Given the description of an element on the screen output the (x, y) to click on. 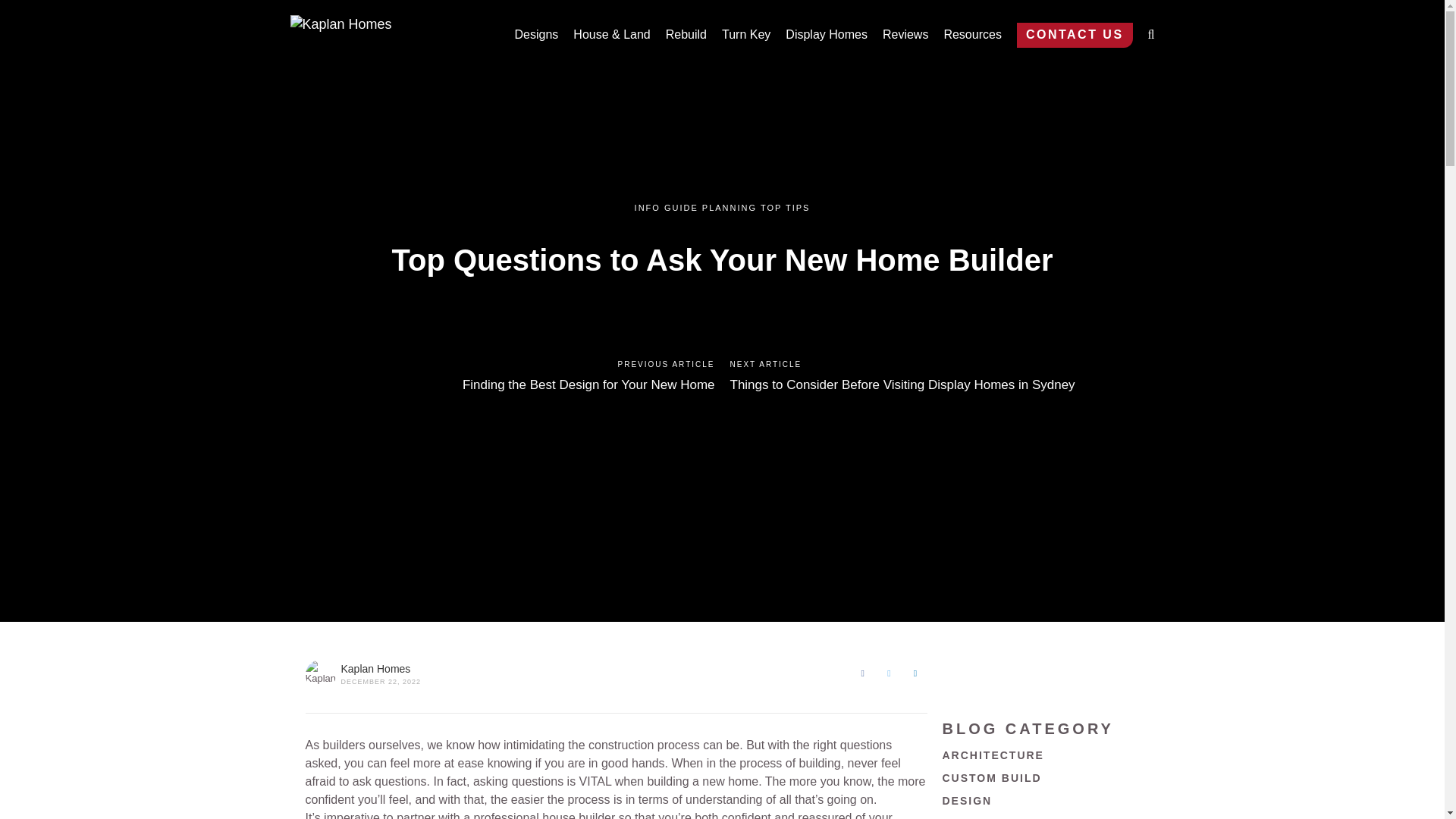
Things to Consider Before Visiting Display Homes in Sydney (901, 384)
Reviews (905, 34)
CONTACT US (1074, 34)
Resources (972, 34)
Designs (537, 34)
Share on Twitter (889, 673)
Rebuild (685, 34)
Display Homes (826, 34)
Share on LinkedIn (915, 673)
Share on Facebook (862, 673)
Turn Key (746, 34)
Search (1120, 37)
DESIGN (966, 800)
DISPLAY HOMES (995, 818)
ARCHITECTURE (992, 755)
